Given the description of an element on the screen output the (x, y) to click on. 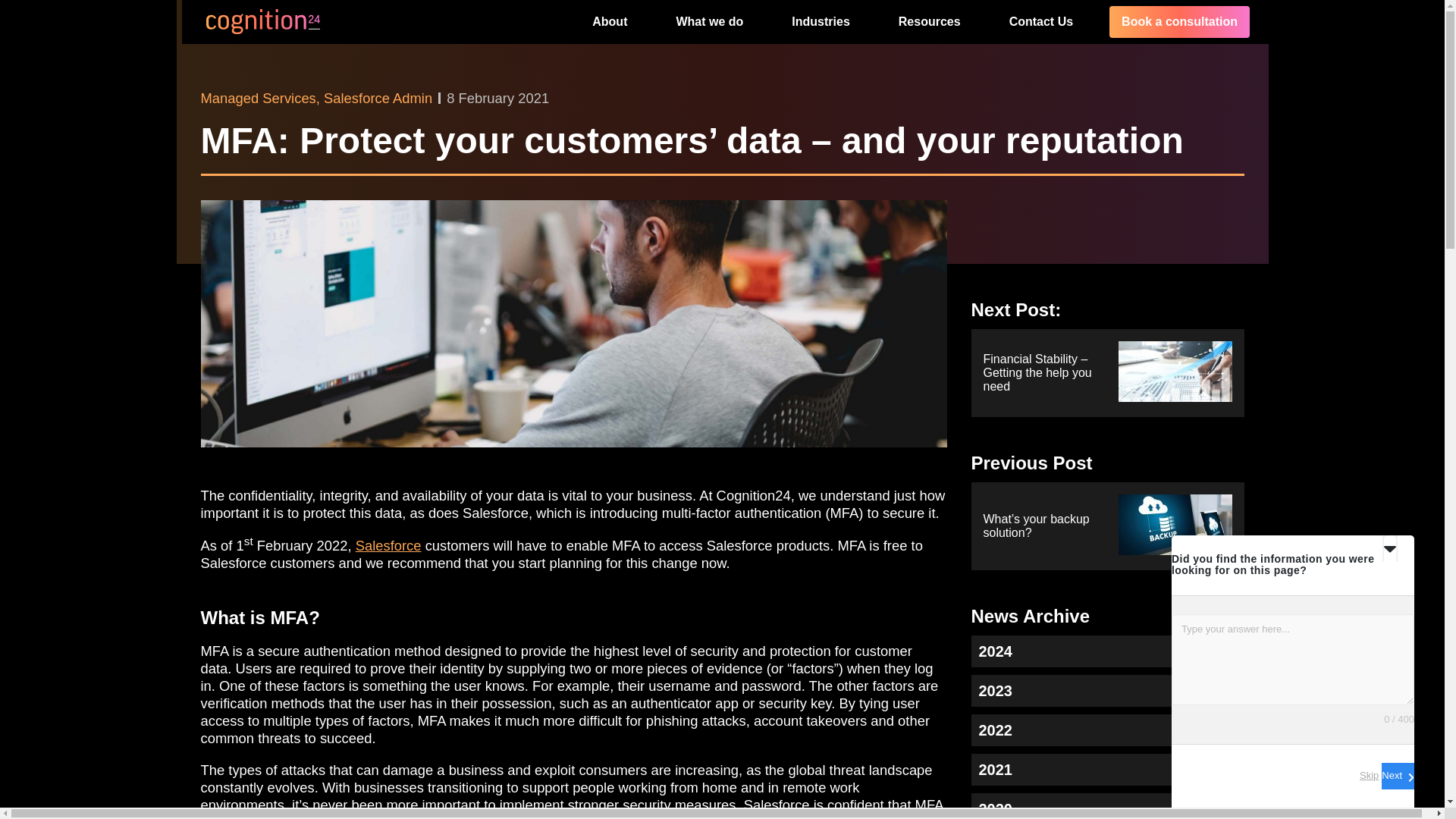
What we do (708, 22)
Contact Us (1041, 22)
Book a consultation (1179, 21)
Resources (930, 22)
About (608, 22)
Industries (820, 22)
